Given the description of an element on the screen output the (x, y) to click on. 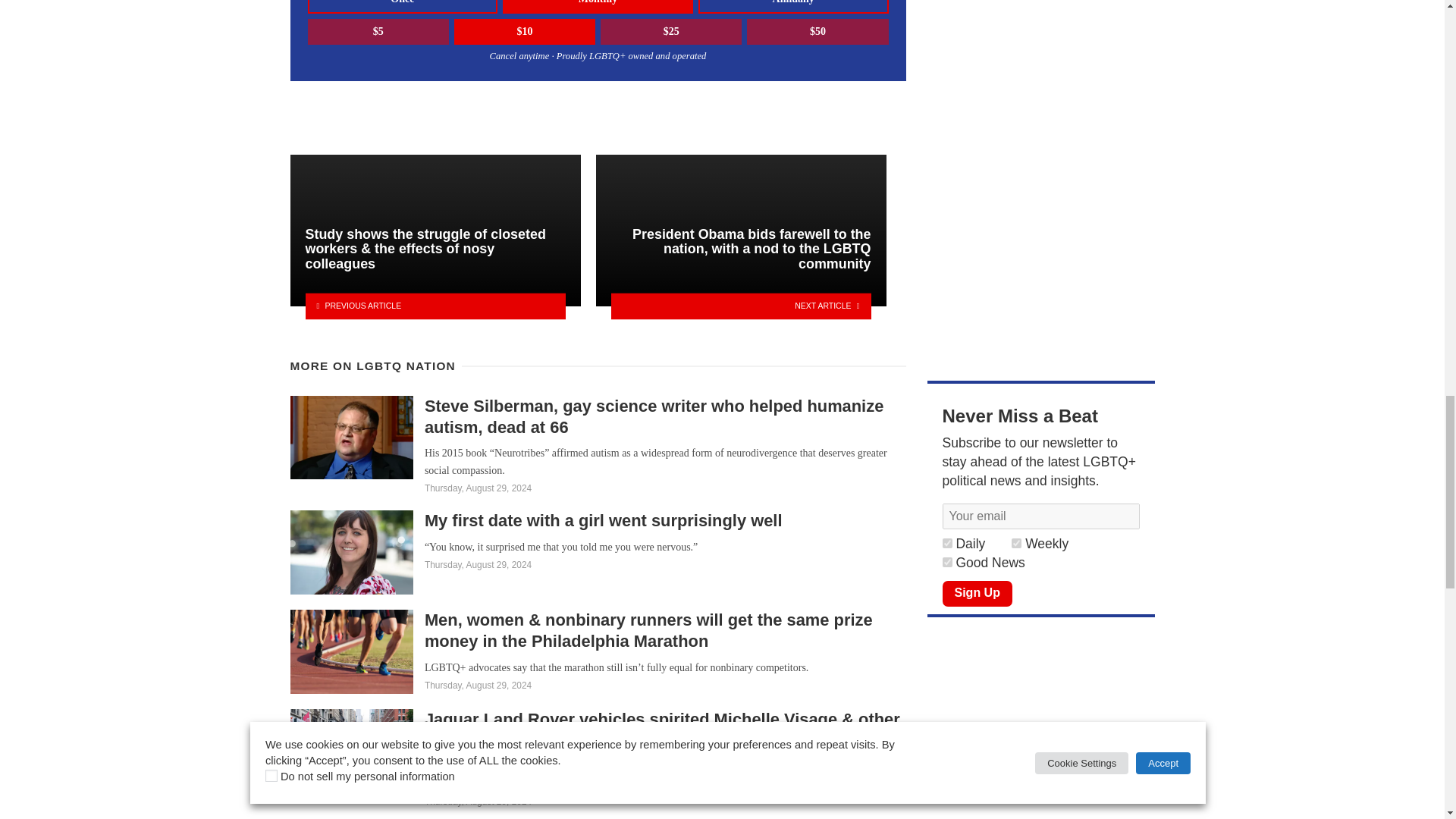
Sign Up (976, 593)
1920883 (947, 562)
1920885 (947, 542)
1920884 (1016, 542)
